Given the description of an element on the screen output the (x, y) to click on. 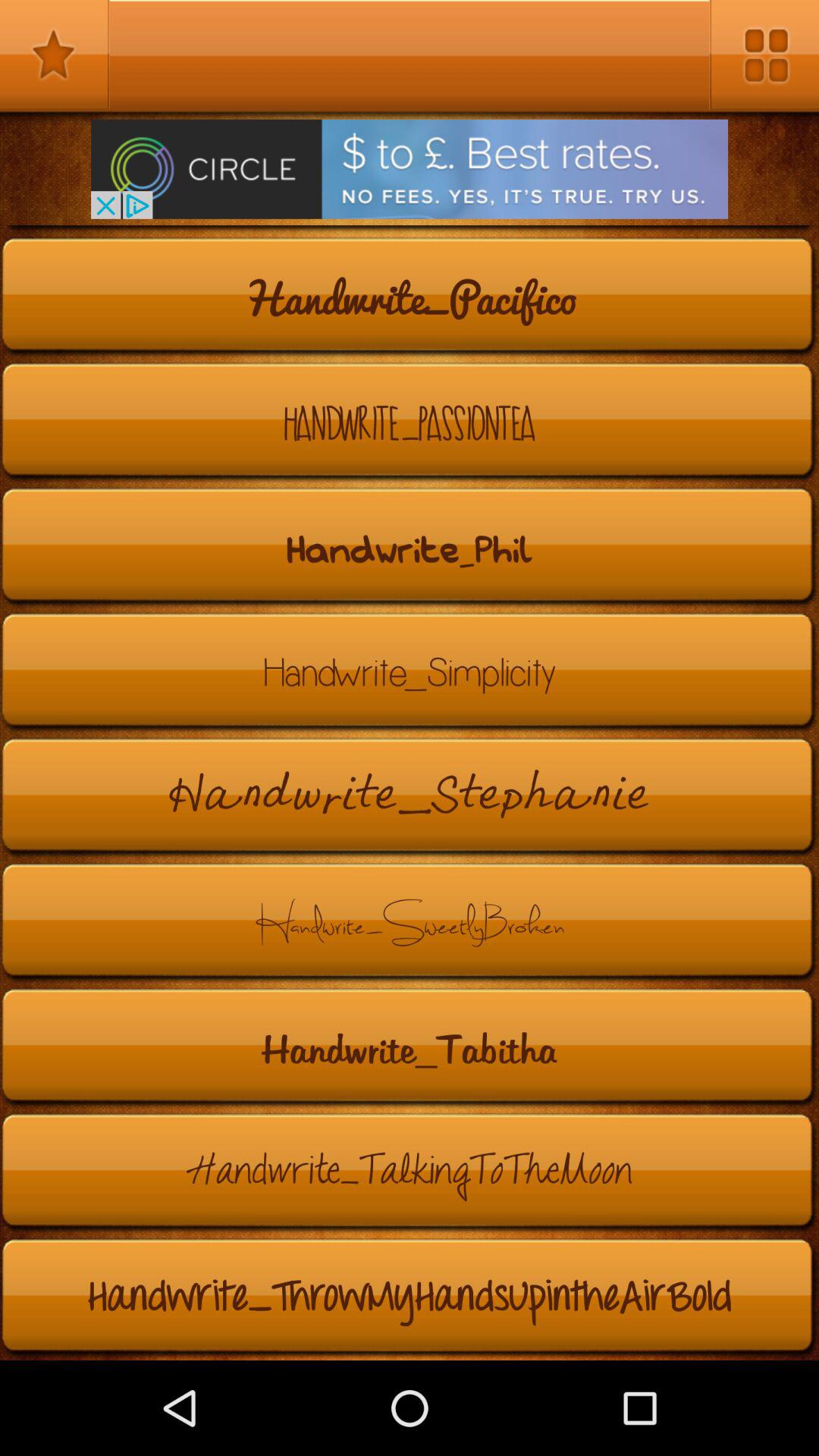
advertising (409, 168)
